Given the description of an element on the screen output the (x, y) to click on. 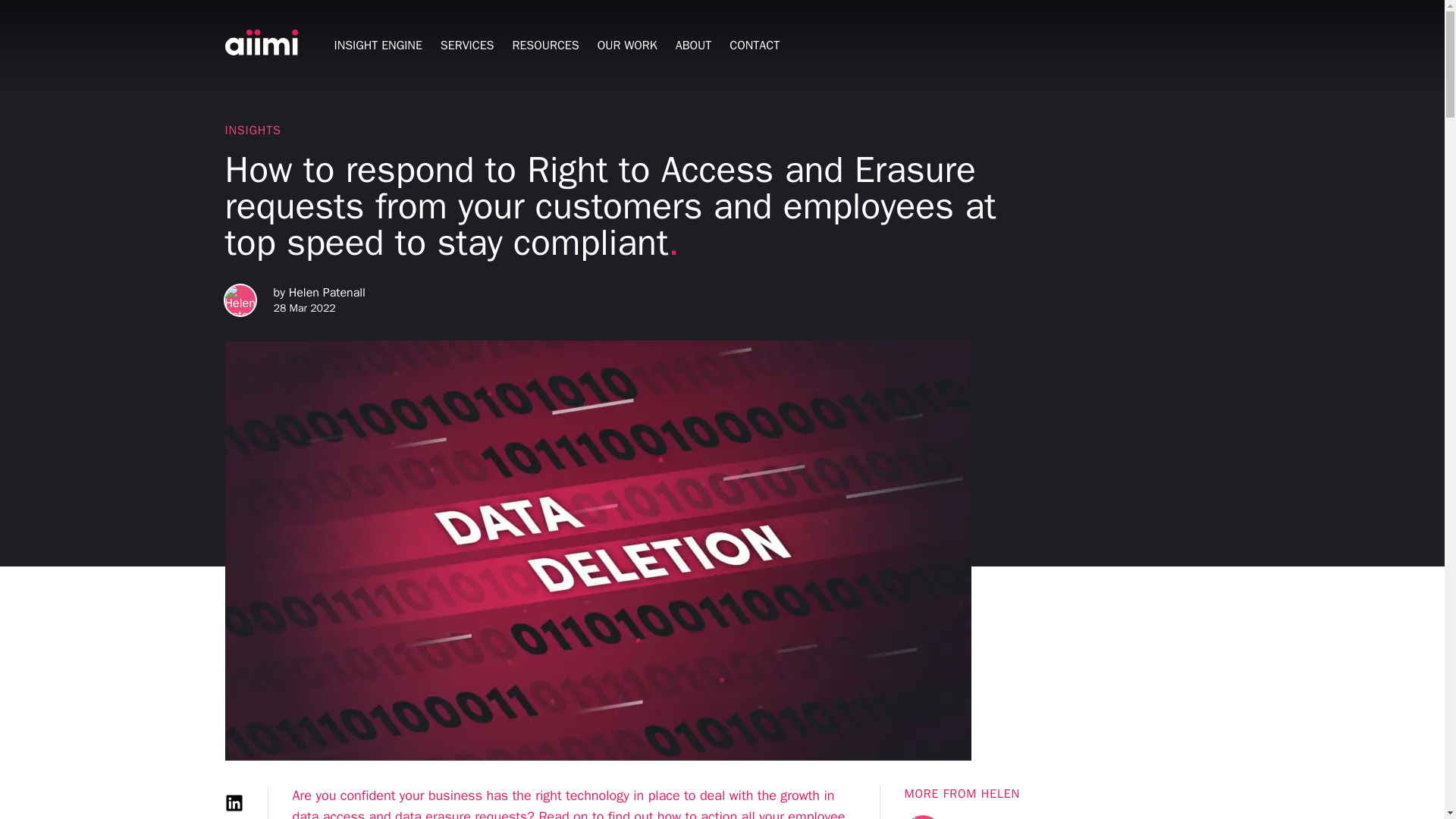
SERVICES (466, 45)
OUR WORK (627, 45)
ABOUT (693, 45)
CONTACT (754, 45)
INSIGHT ENGINE (377, 45)
